Given the description of an element on the screen output the (x, y) to click on. 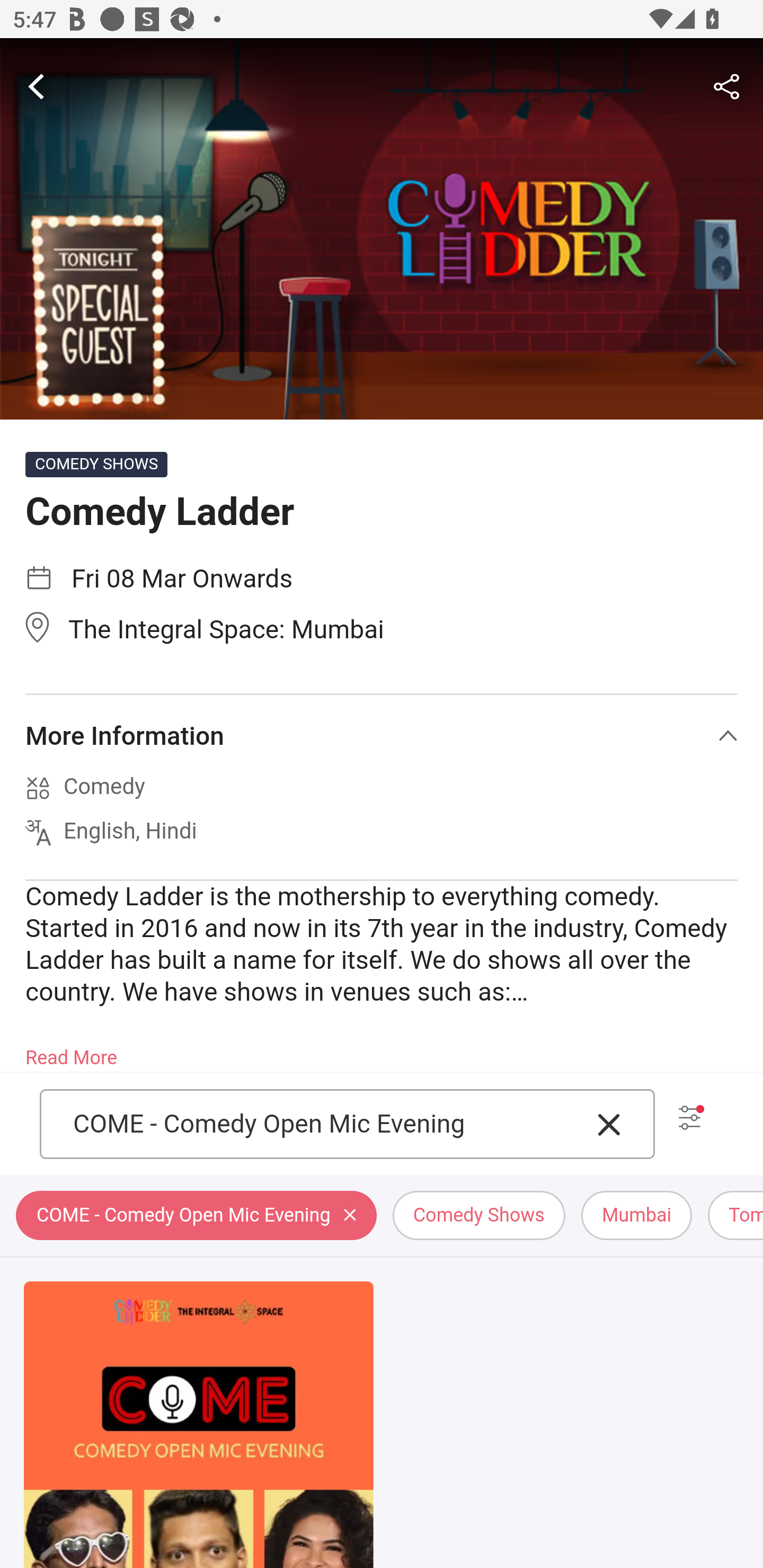
More Information (381, 735)
Read More (71, 1051)
COME - Comedy Open Mic Evening (327, 1124)
COME - Comedy Open Mic Evening (196, 1215)
Comedy Shows (478, 1215)
Mumbai (635, 1215)
